Given the description of an element on the screen output the (x, y) to click on. 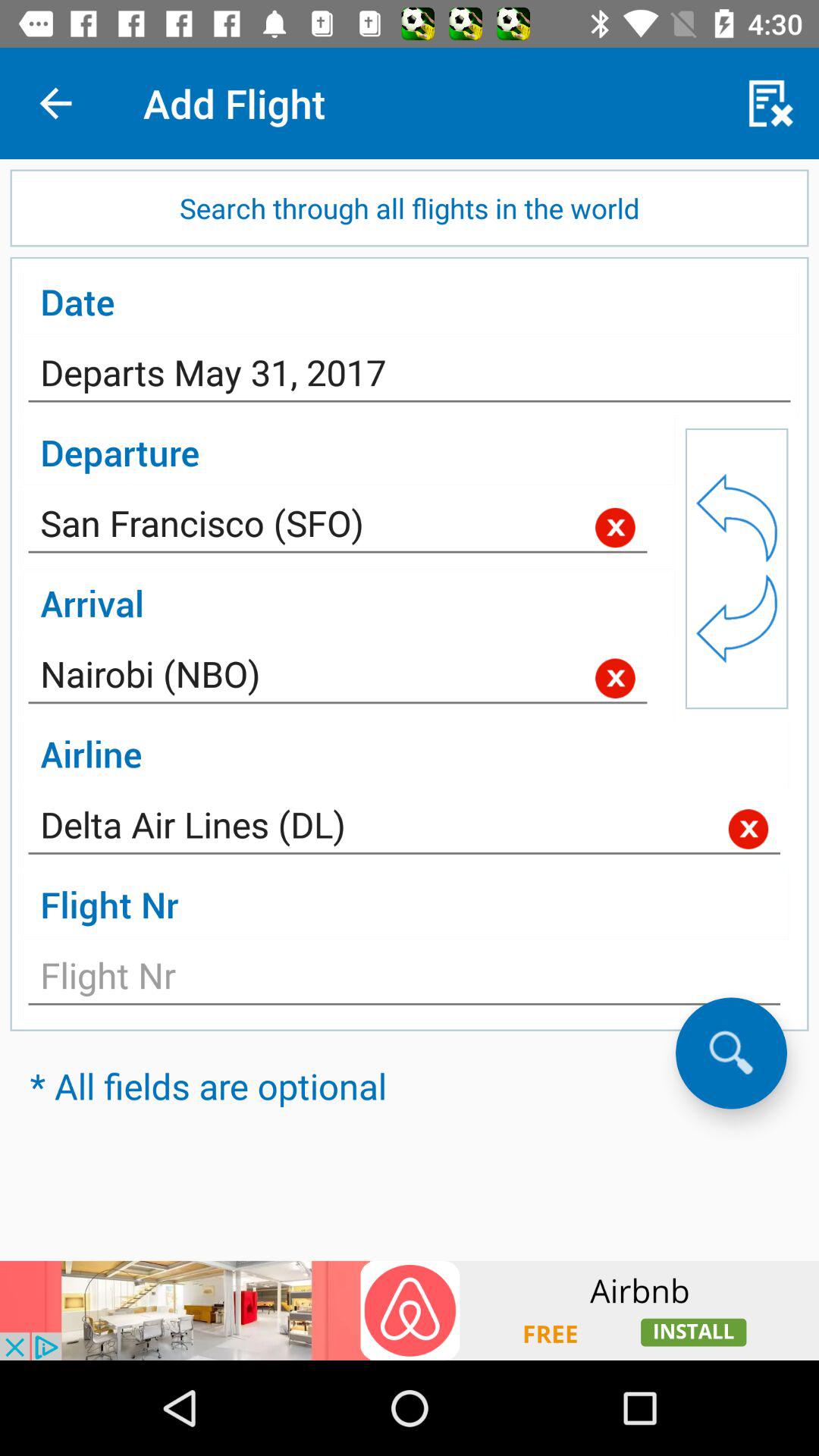
flight tracker (404, 979)
